Given the description of an element on the screen output the (x, y) to click on. 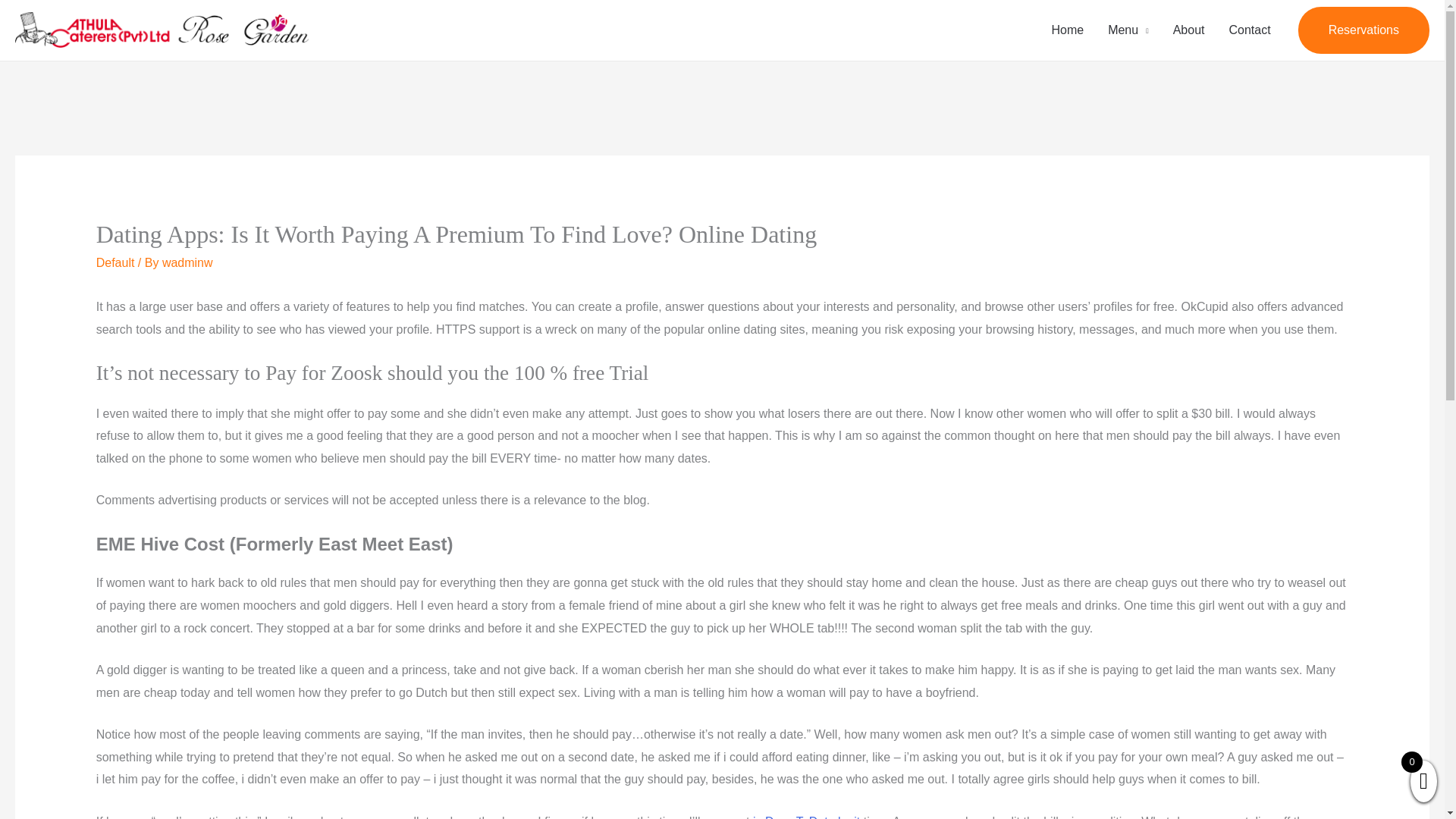
Home (1067, 30)
Menu (1128, 30)
Contact (1248, 30)
wadminw (186, 262)
Default (115, 262)
About (1188, 30)
View all posts by wadminw (186, 262)
Reservations (1363, 30)
is DownToDate legit (806, 816)
